Given the description of an element on the screen output the (x, y) to click on. 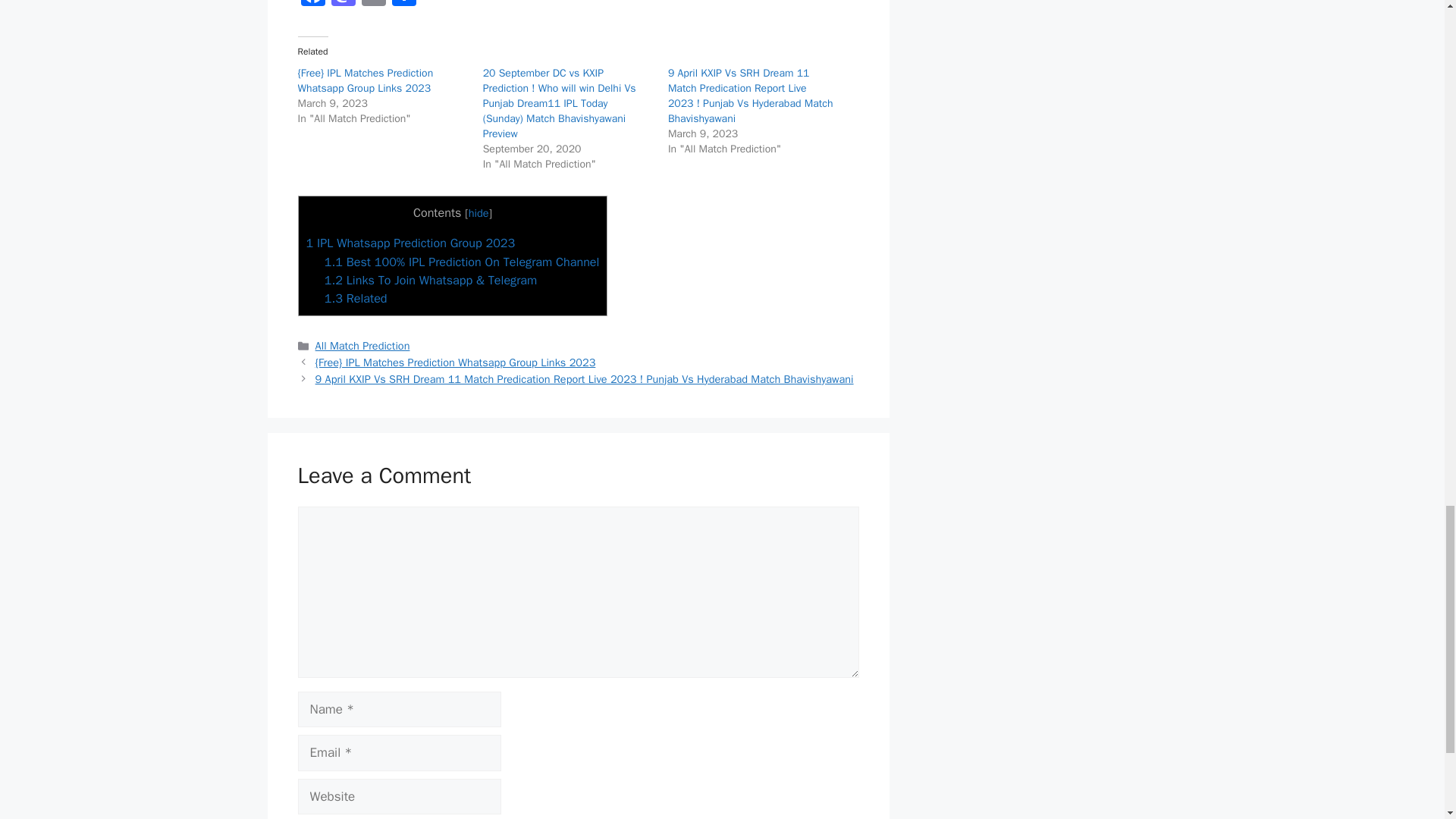
Facebook (312, 5)
Email (373, 5)
All Match Prediction (362, 345)
Mastodon (342, 5)
hide (478, 213)
Facebook (312, 5)
Mastodon (342, 5)
